Given the description of an element on the screen output the (x, y) to click on. 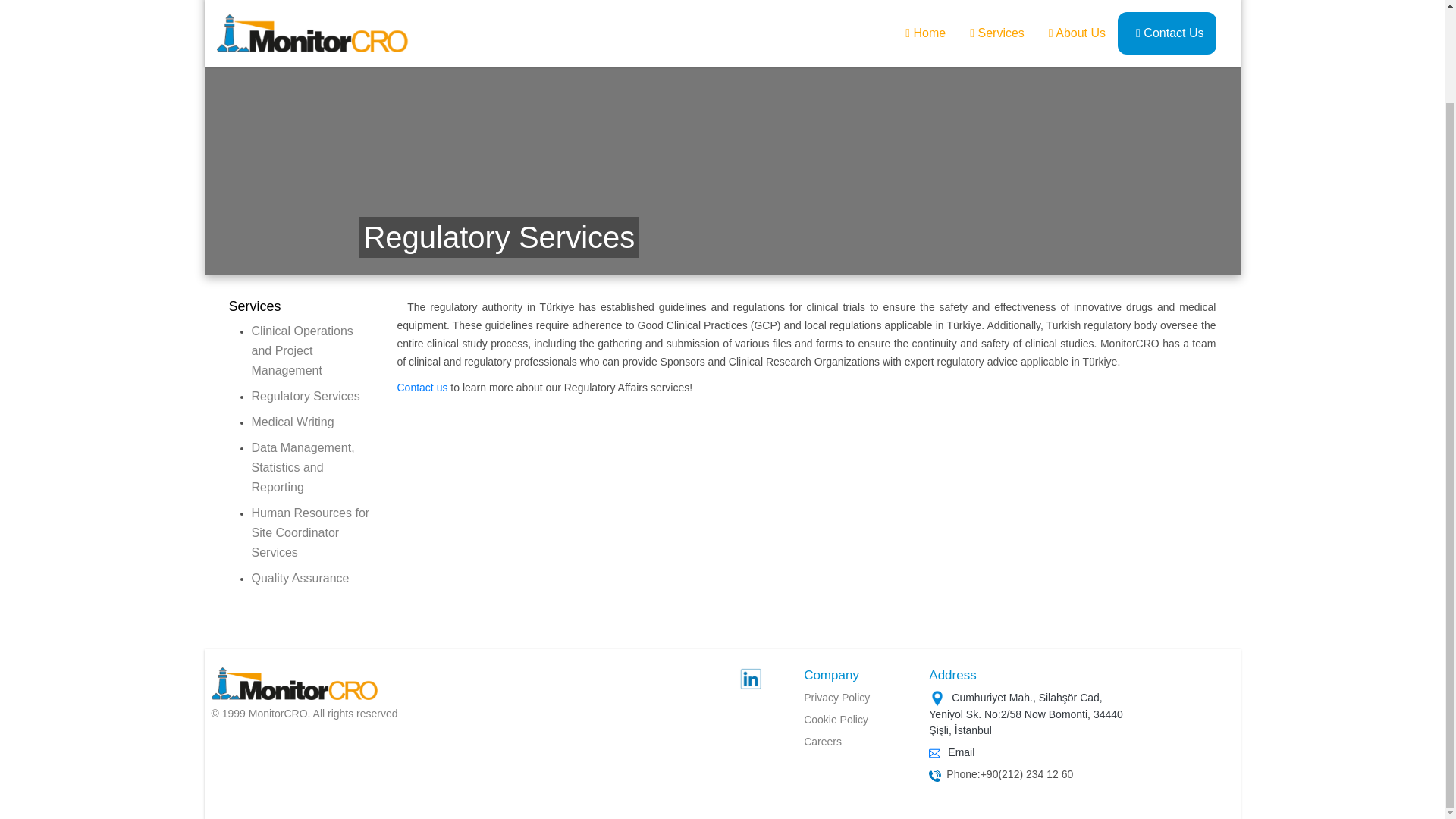
Clinical Operations and Project Management (302, 350)
Privacy Policy (836, 697)
Quality Assurance (300, 577)
Email (958, 752)
Human Resources for Site Coordinator Services (310, 532)
Careers (822, 741)
Data Management, Statistics and Reporting (303, 467)
Medical Writing (292, 421)
Regulatory Services (305, 395)
Contact us (422, 387)
Cookie Policy (835, 719)
Services (254, 305)
